Given the description of an element on the screen output the (x, y) to click on. 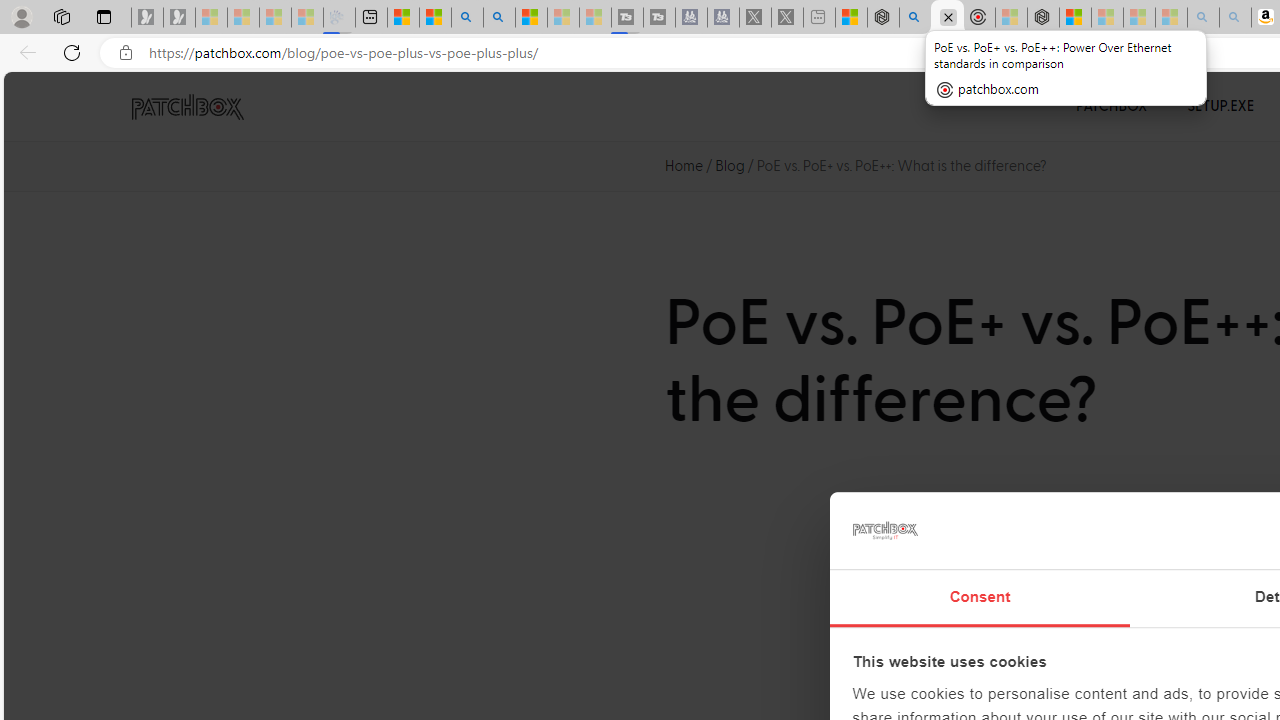
SETUP.EXE (1220, 106)
Nordace - Nordace Siena Is Not An Ordinary Backpack (1042, 17)
SETUP.EXE (1220, 106)
PATCHBOX - Simplify IT (187, 107)
PATCHBOX (1111, 106)
